Given the description of an element on the screen output the (x, y) to click on. 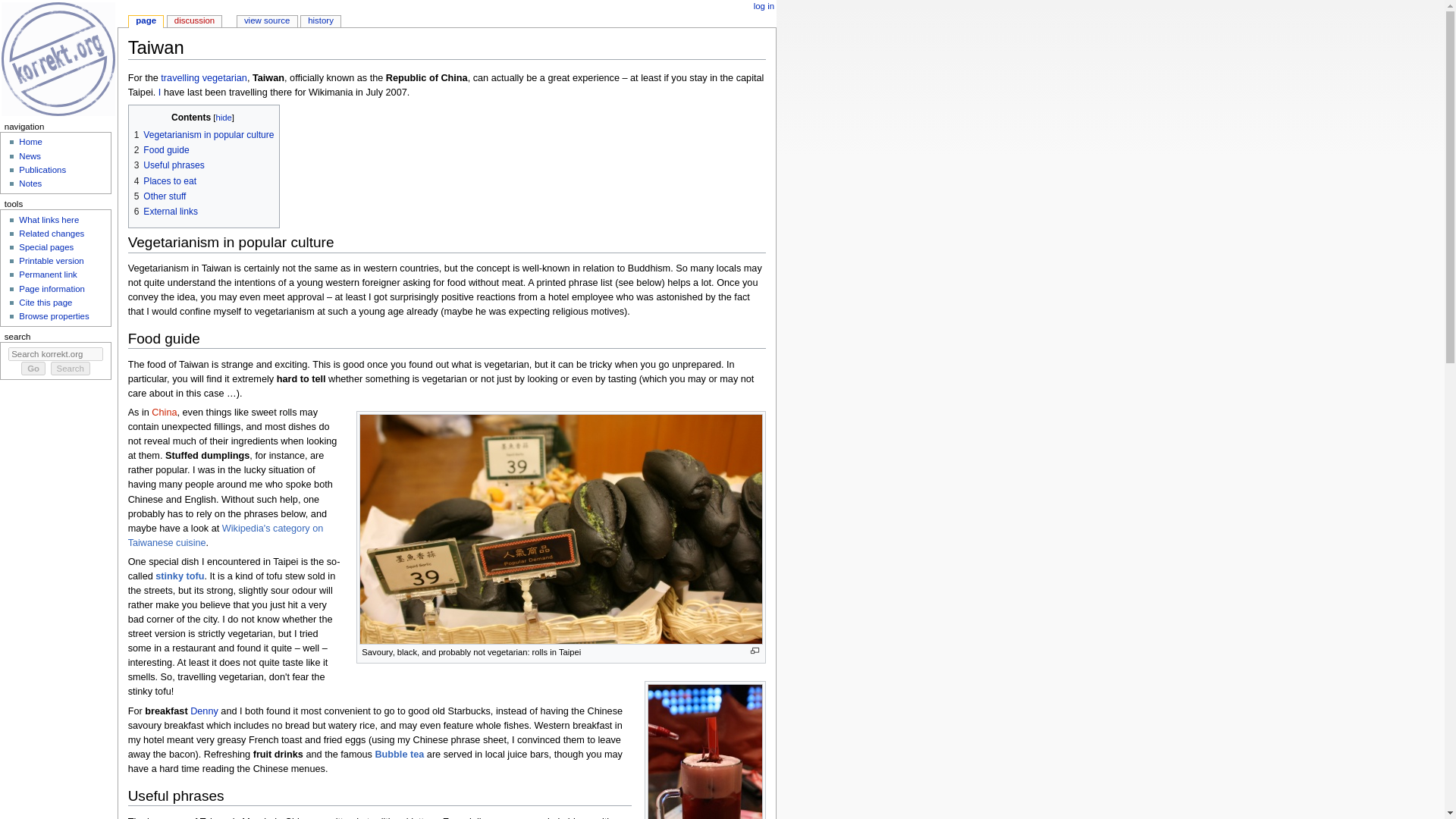
Wikipedia's category on Taiwanese cuisine (225, 535)
Go (33, 368)
3 Useful phrases (169, 164)
Search (70, 368)
6 External links (165, 211)
Enlarge (754, 651)
2 Food guide (161, 149)
Search (70, 368)
discussion (194, 21)
Publications (41, 169)
Home (30, 141)
1 Vegetarianism in popular culture (204, 134)
log in (764, 6)
Go (33, 368)
World Wide Vegetarian (203, 77)
